Given the description of an element on the screen output the (x, y) to click on. 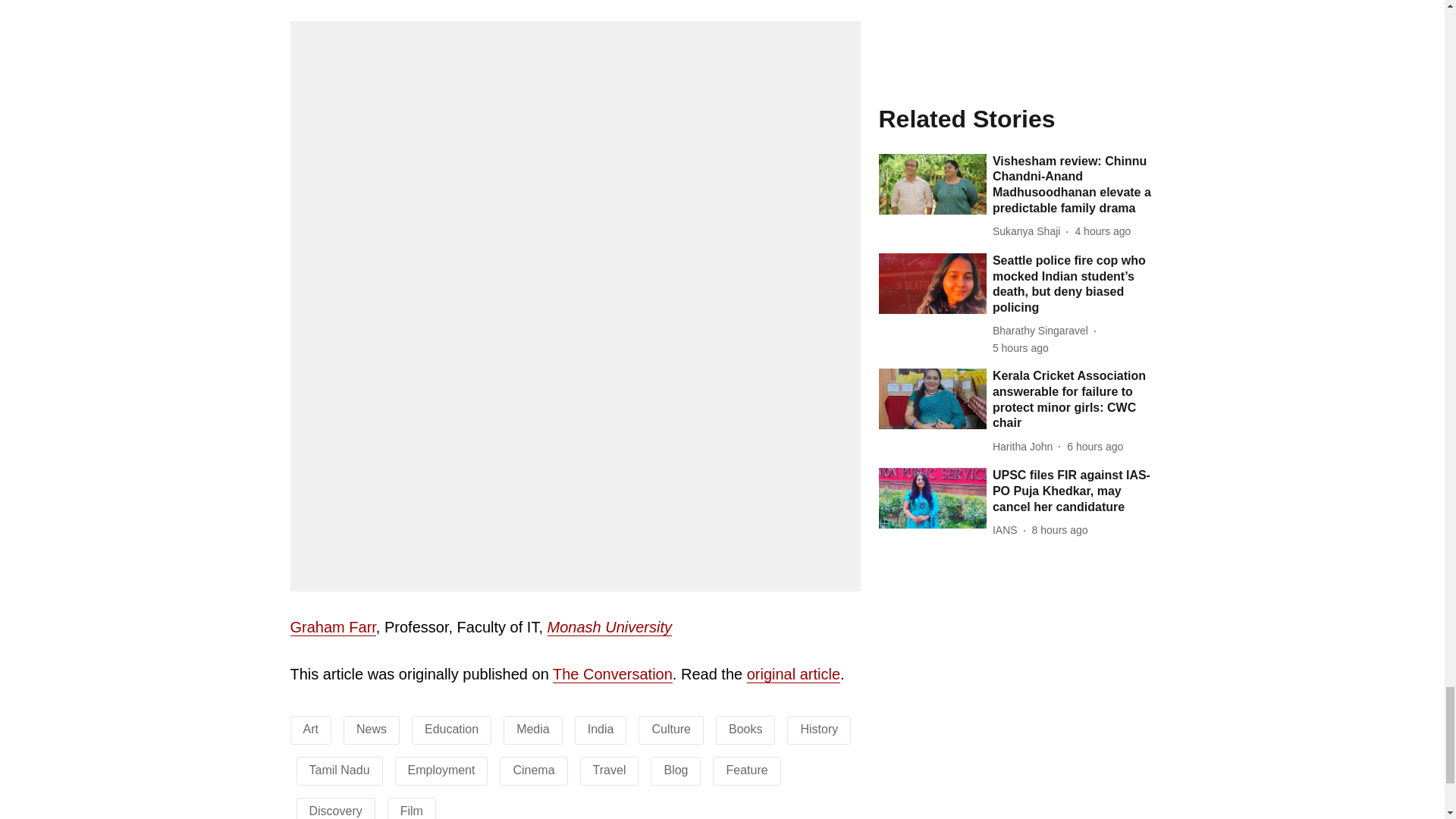
Graham Farr (332, 627)
